Given the description of an element on the screen output the (x, y) to click on. 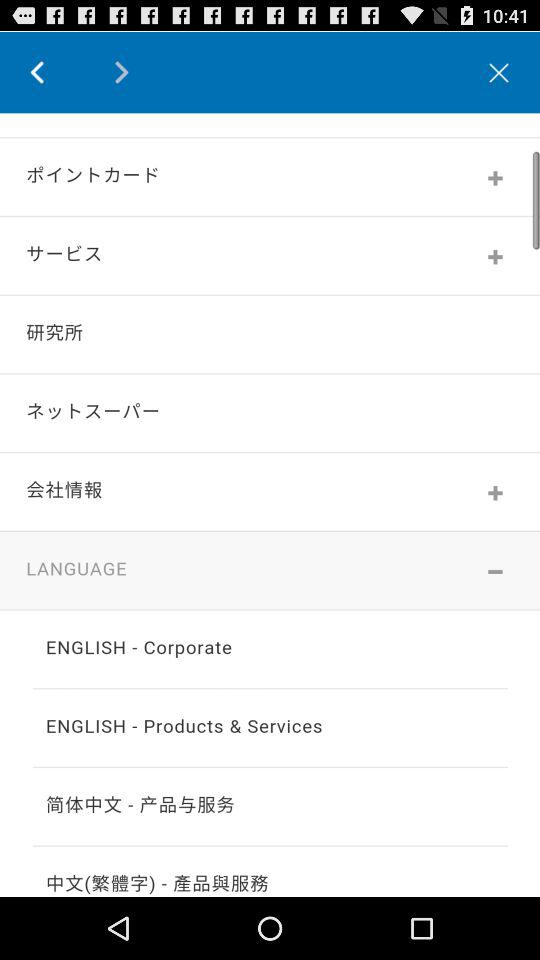
all the box selekt (270, 504)
